Given the description of an element on the screen output the (x, y) to click on. 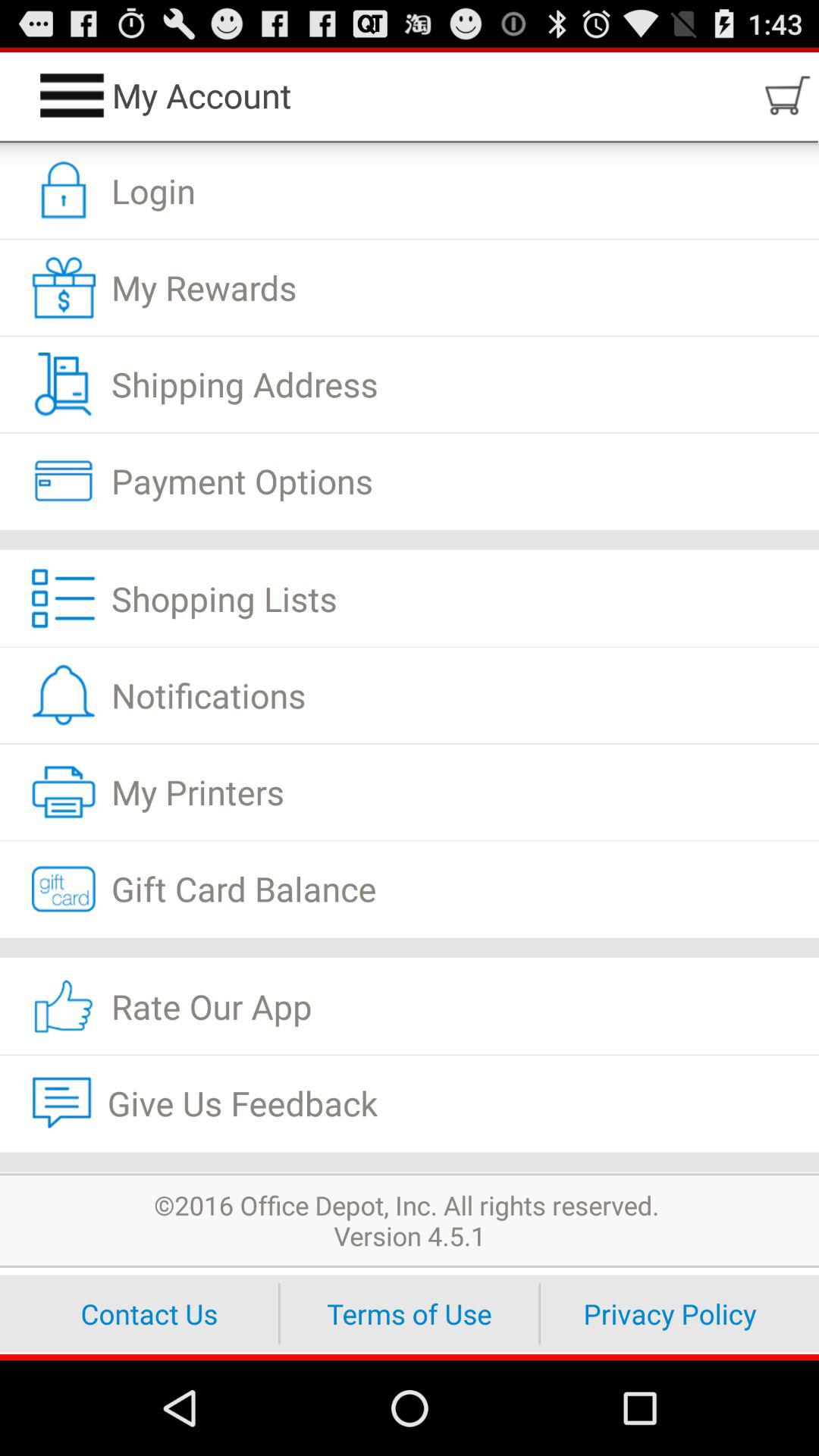
turn off item above the shipping address icon (409, 287)
